Given the description of an element on the screen output the (x, y) to click on. 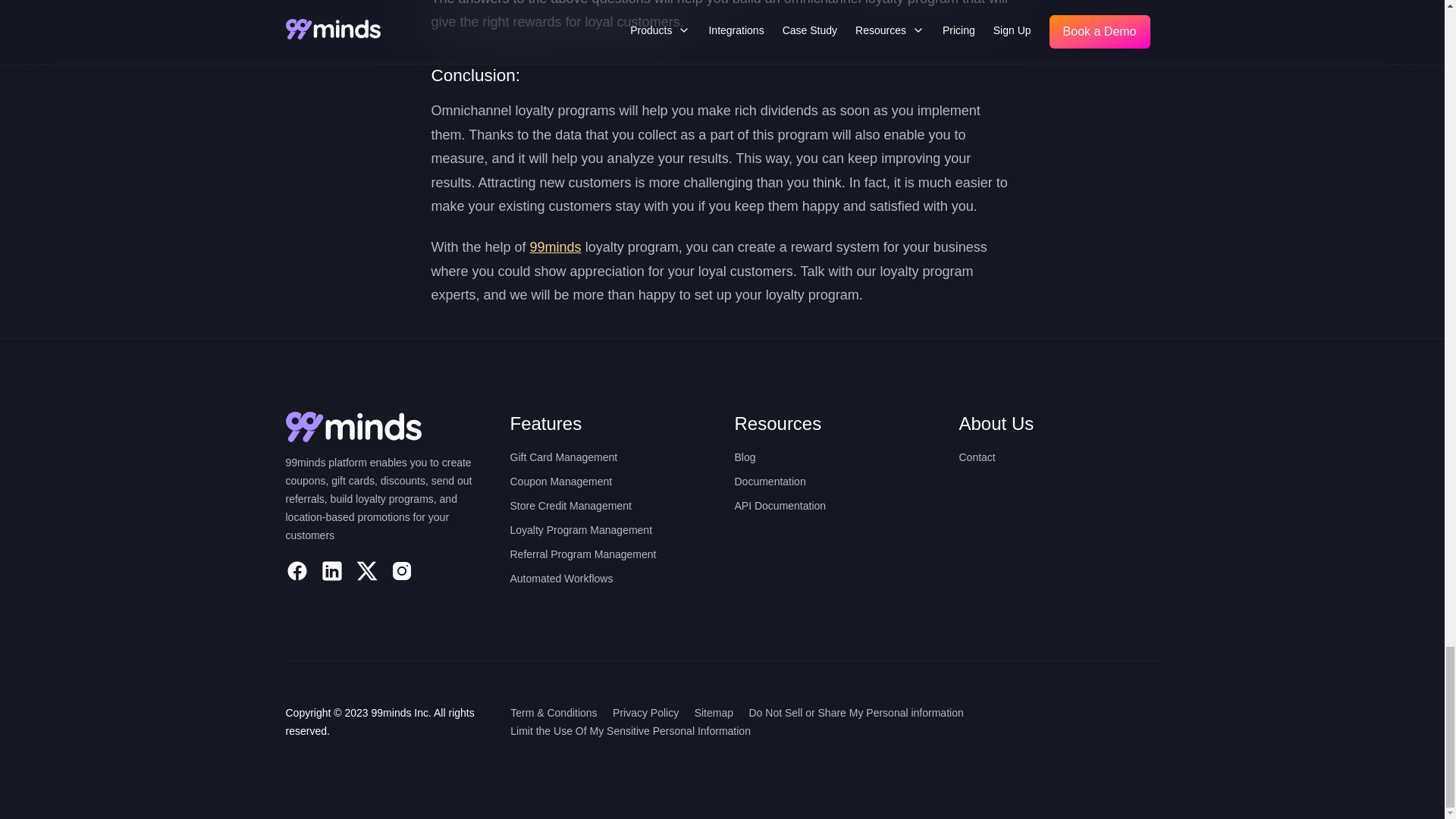
99minds (554, 246)
Go to Astro's GitHub repo (296, 570)
Follow Astro on Twitter (366, 570)
Gift Card Management (563, 456)
Follow Astro on Mastodon (401, 570)
Join the Astro community on Discord (331, 570)
